Given the description of an element on the screen output the (x, y) to click on. 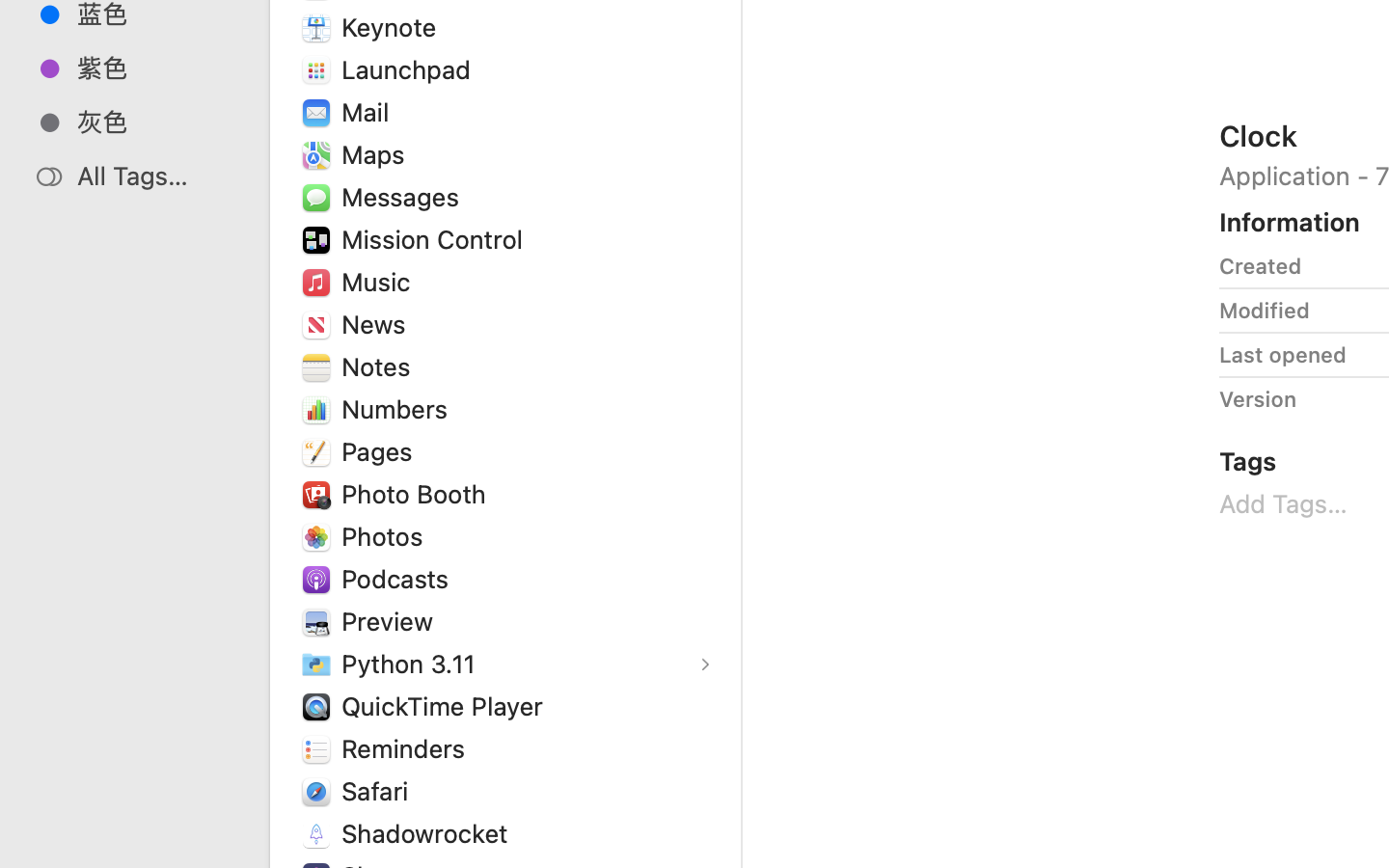
Tags… Element type: AXStaticText (41, 852)
Modified Element type: AXStaticText (1264, 310)
Maps Element type: AXTextField (376, 153)
Applications Element type: AXStaticText (875, 786)
Photos Element type: AXTextField (386, 535)
